Given the description of an element on the screen output the (x, y) to click on. 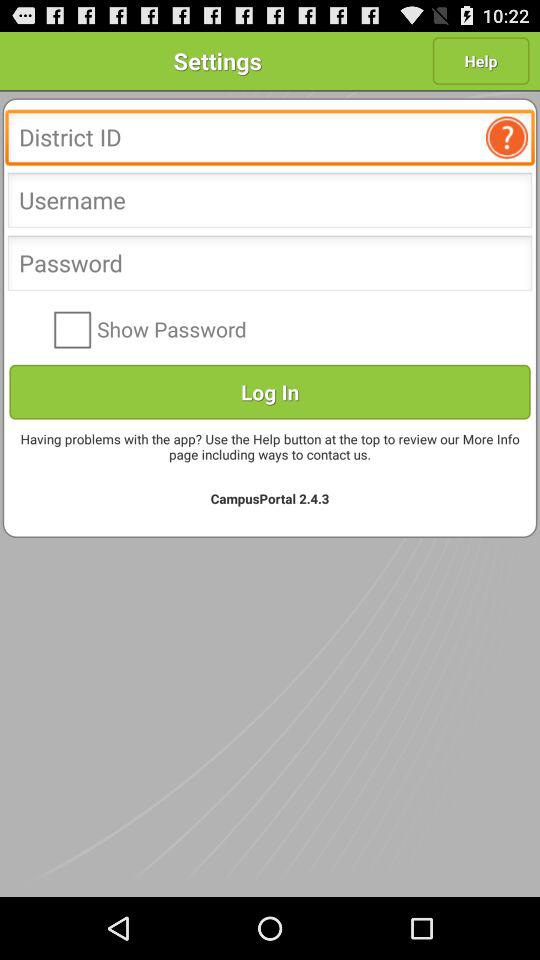
turn on the item below having problems with (269, 498)
